Given the description of an element on the screen output the (x, y) to click on. 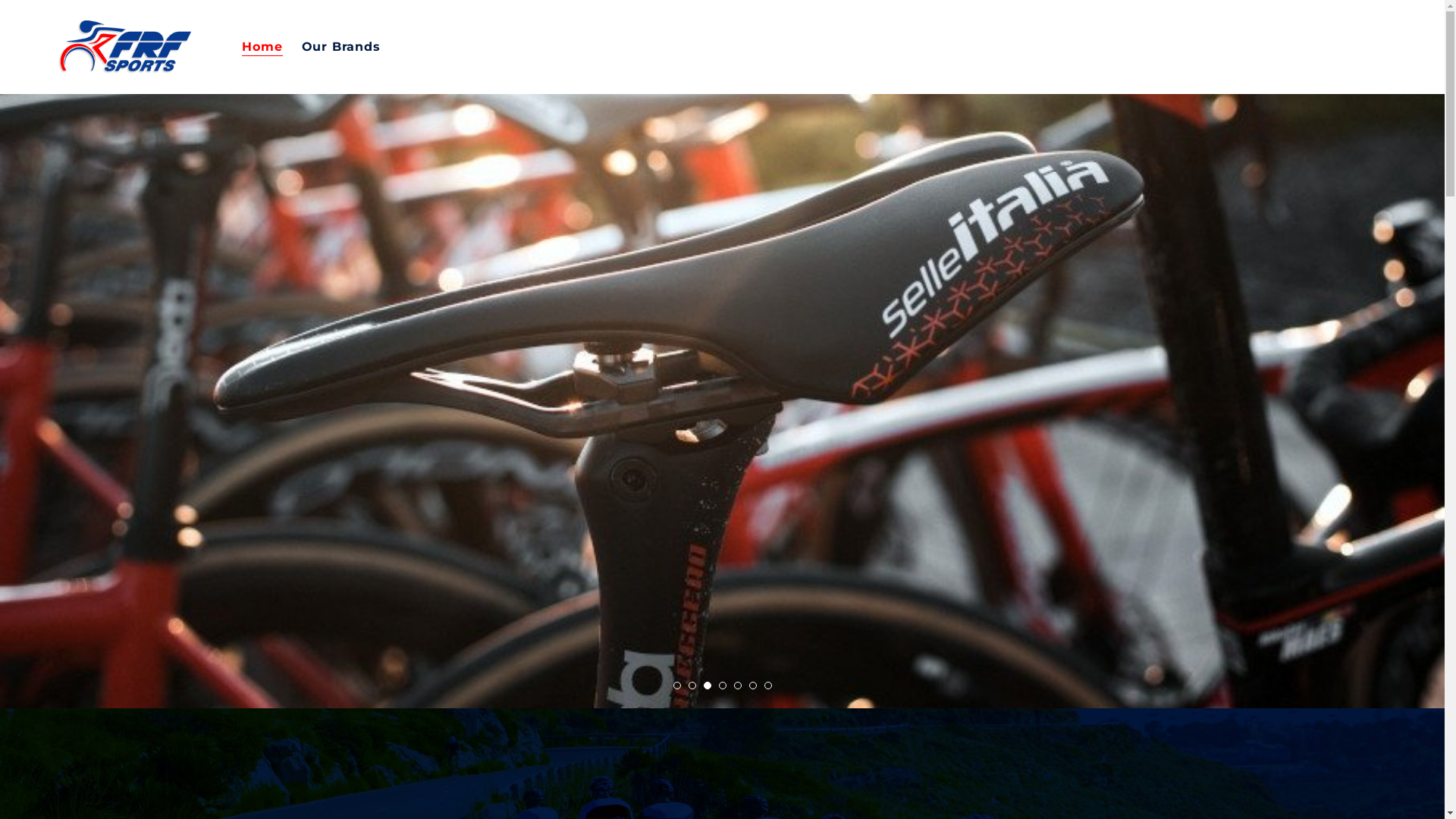
Home Element type: text (261, 46)
Our Brands Element type: text (340, 46)
